Given the description of an element on the screen output the (x, y) to click on. 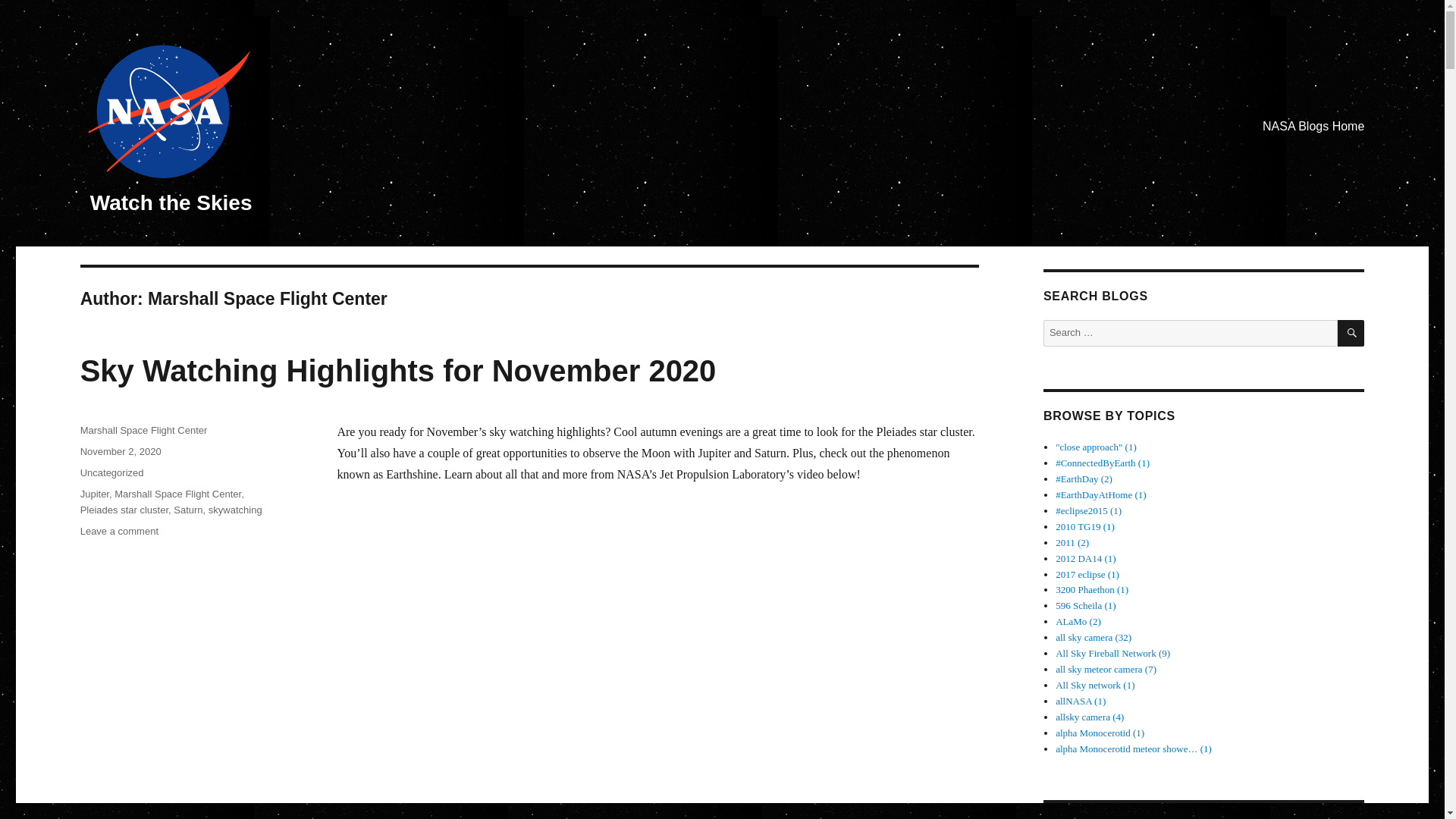
skywatching (235, 509)
Watch the Skies (170, 202)
Pleiades star cluster (124, 509)
Sky Watching Highlights for November 2020 (398, 370)
Jupiter (119, 531)
Marshall Space Flight Center (94, 493)
NASA Blogs Home (178, 493)
November 2, 2020 (1313, 126)
Marshall Space Flight Center (120, 451)
